Given the description of an element on the screen output the (x, y) to click on. 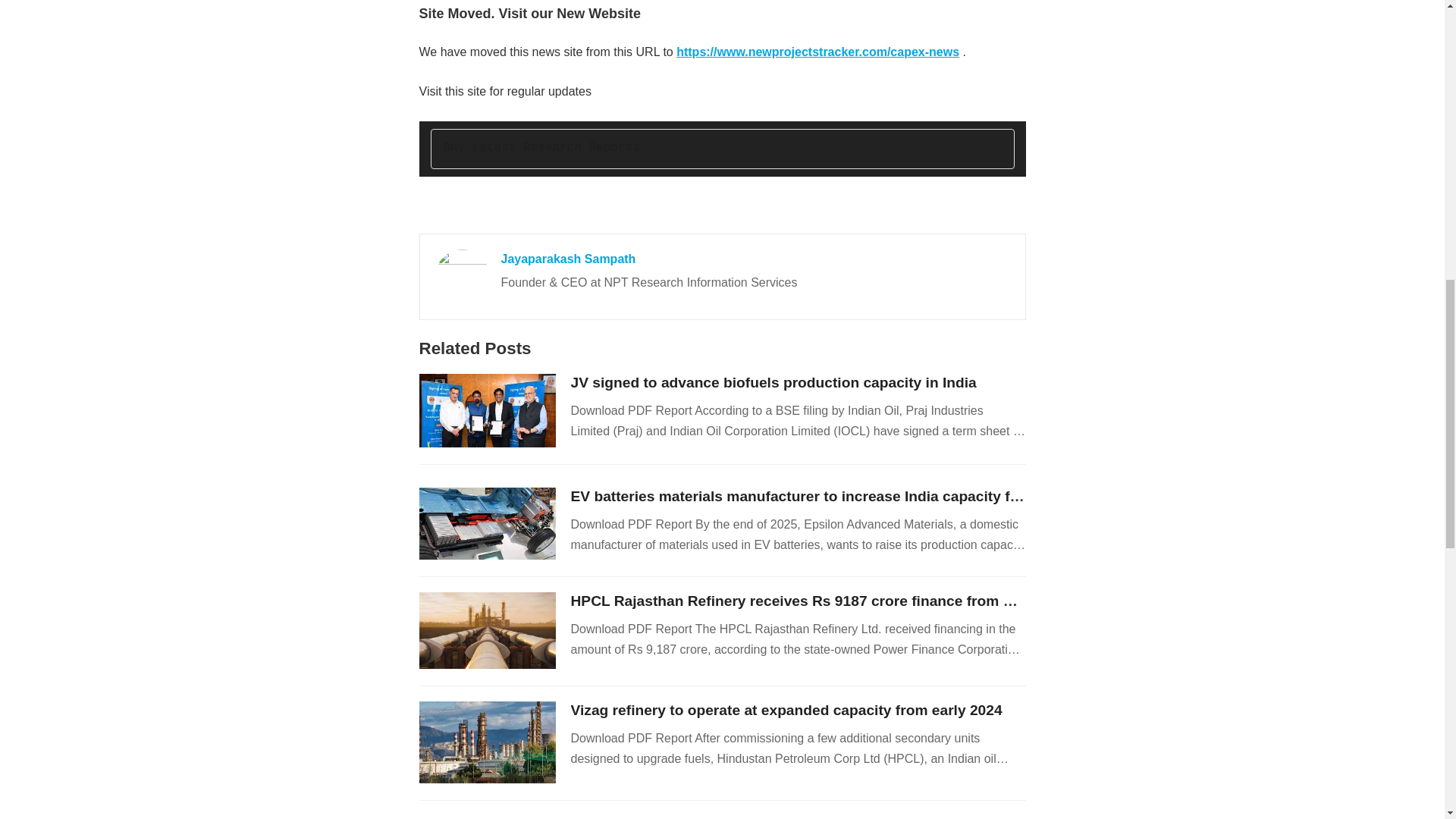
JV signed to advance biofuels production capacity in India (772, 382)
Jayaparakash Sampath (567, 258)
